Given the description of an element on the screen output the (x, y) to click on. 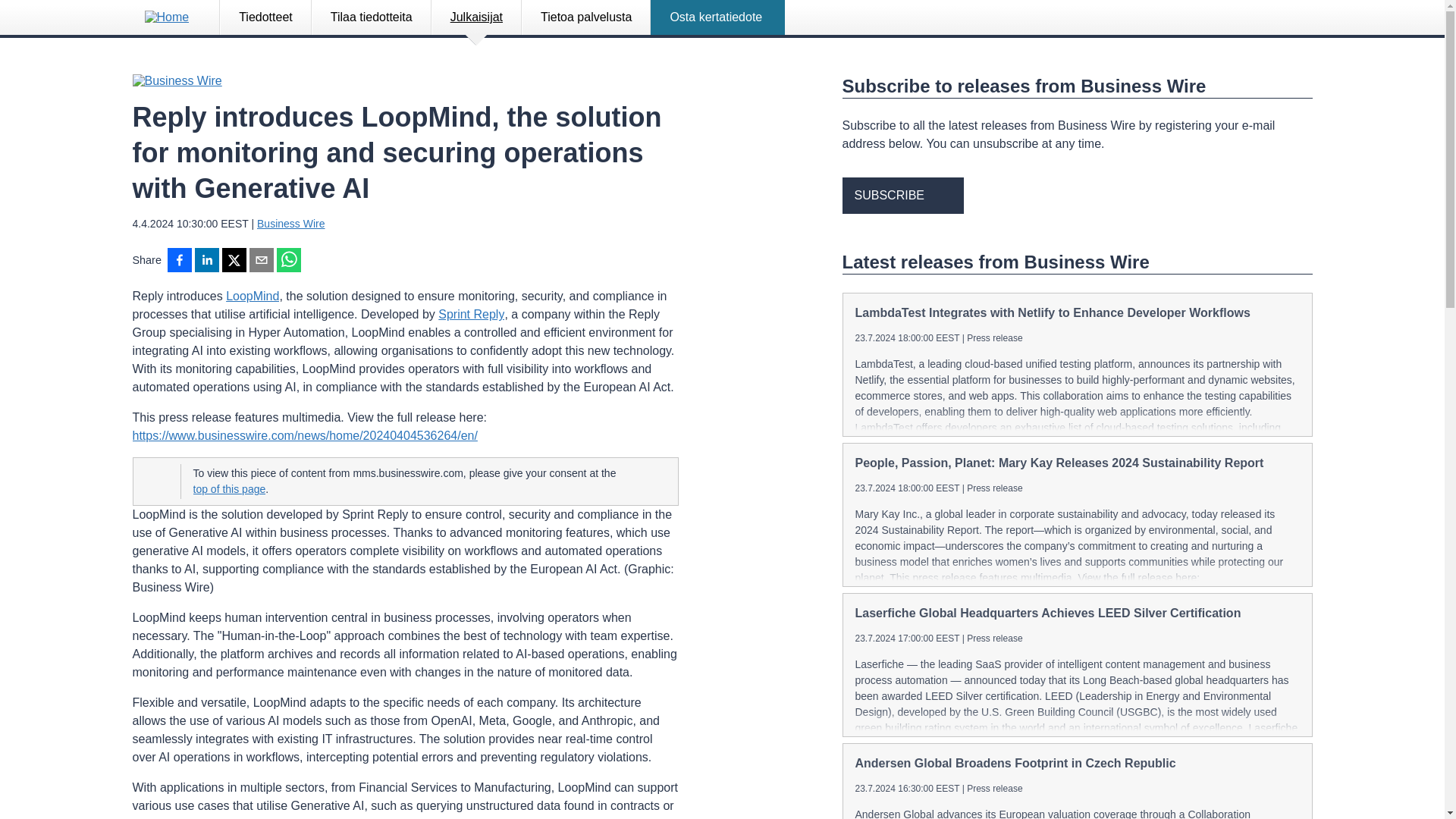
LoopMind (252, 296)
Tiedotteet (266, 17)
Tilaa tiedotteita (371, 17)
Sprint Reply (470, 314)
Tietoa palvelusta (585, 17)
Osta kertatiedote (717, 17)
top of this page (228, 489)
Business Wire (290, 223)
Julkaisijat (476, 17)
SUBSCRIBE (901, 195)
